Given the description of an element on the screen output the (x, y) to click on. 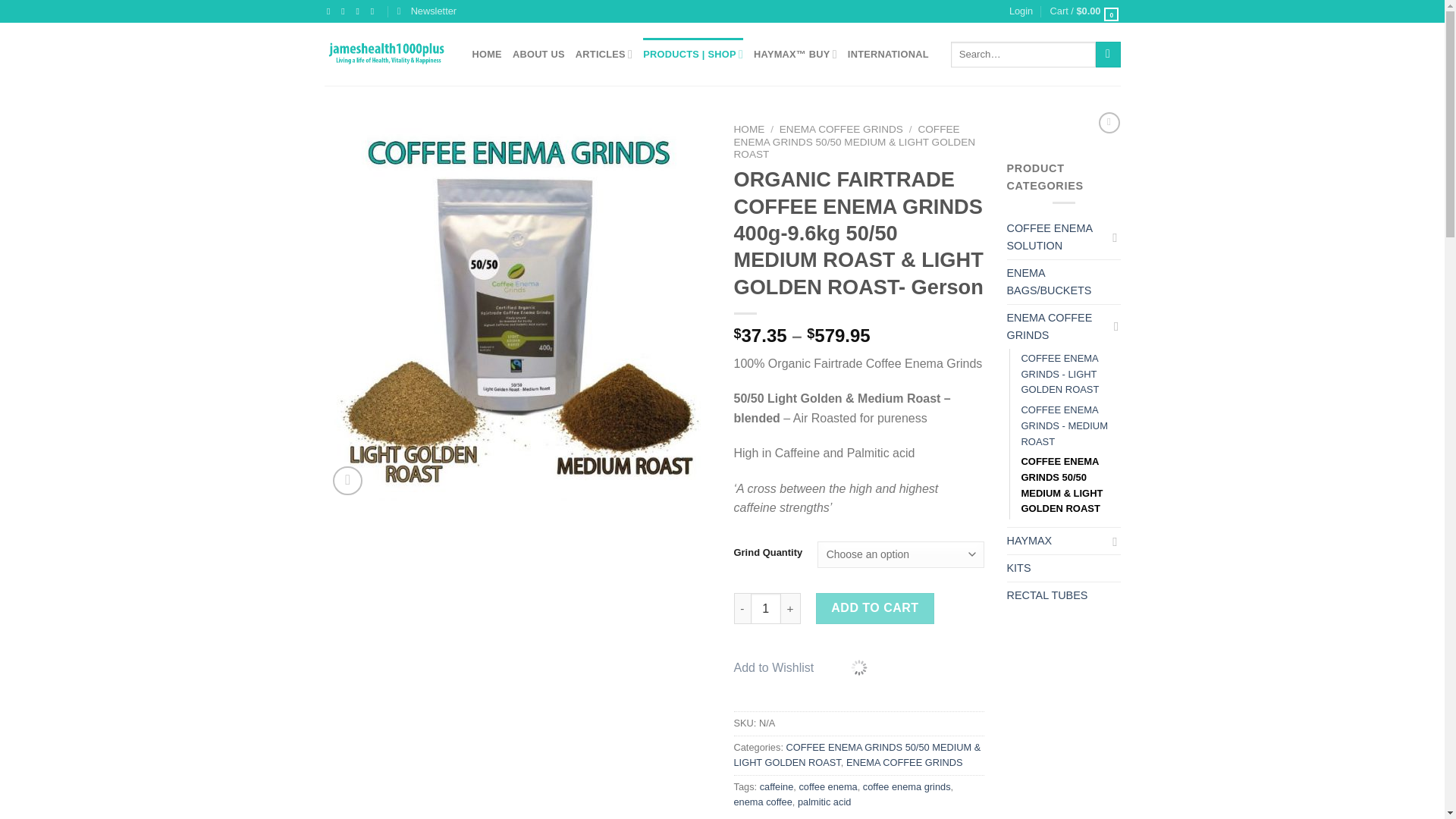
1 (765, 607)
Cart (1085, 11)
Zoom (347, 481)
ARTICLES (603, 53)
Login (1020, 11)
Newsletter (427, 11)
Sign up for Newsletter (427, 11)
HOME (485, 53)
ABOUT US (538, 53)
